Given the description of an element on the screen output the (x, y) to click on. 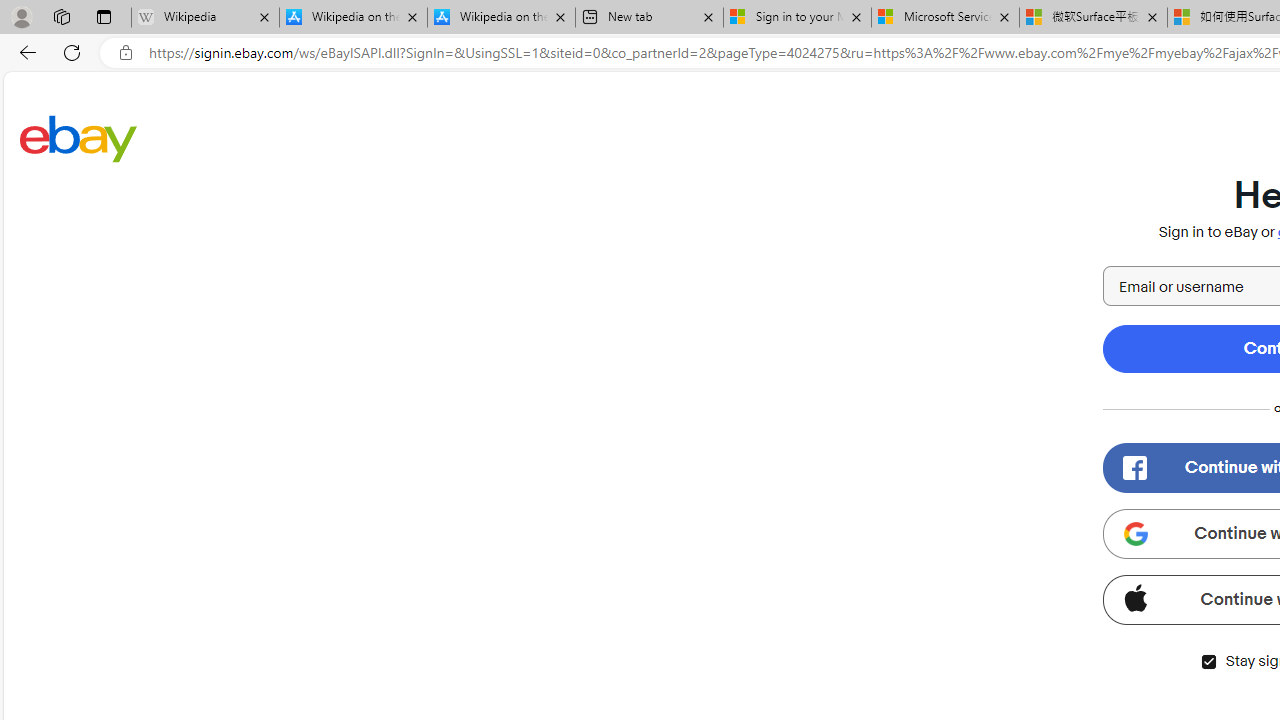
Class: apple-icon (1135, 597)
eBay Home (78, 138)
Stay signed in (1208, 661)
Sign in to your Microsoft account (797, 17)
